Given the description of an element on the screen output the (x, y) to click on. 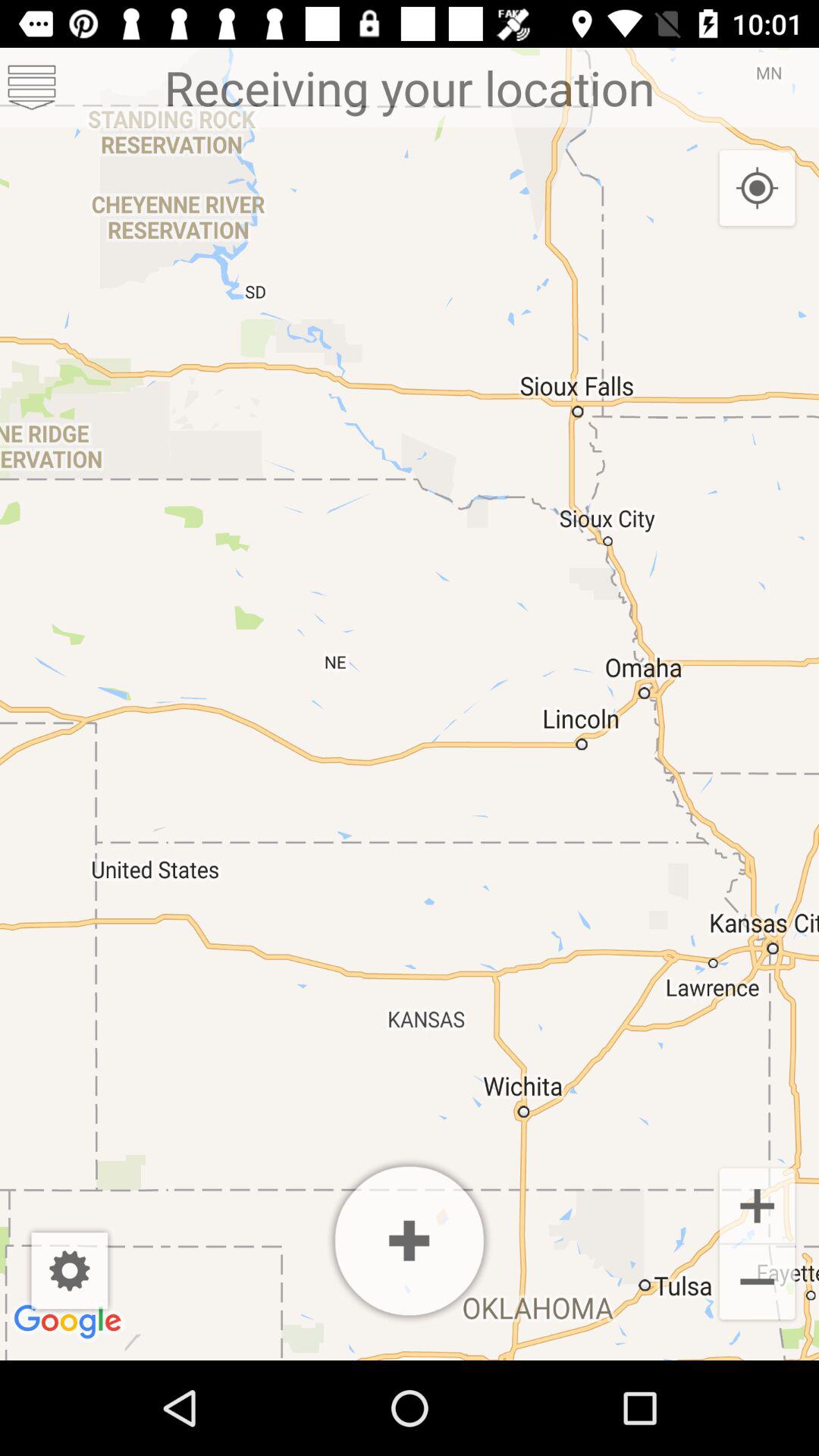
open menu (31, 87)
